Given the description of an element on the screen output the (x, y) to click on. 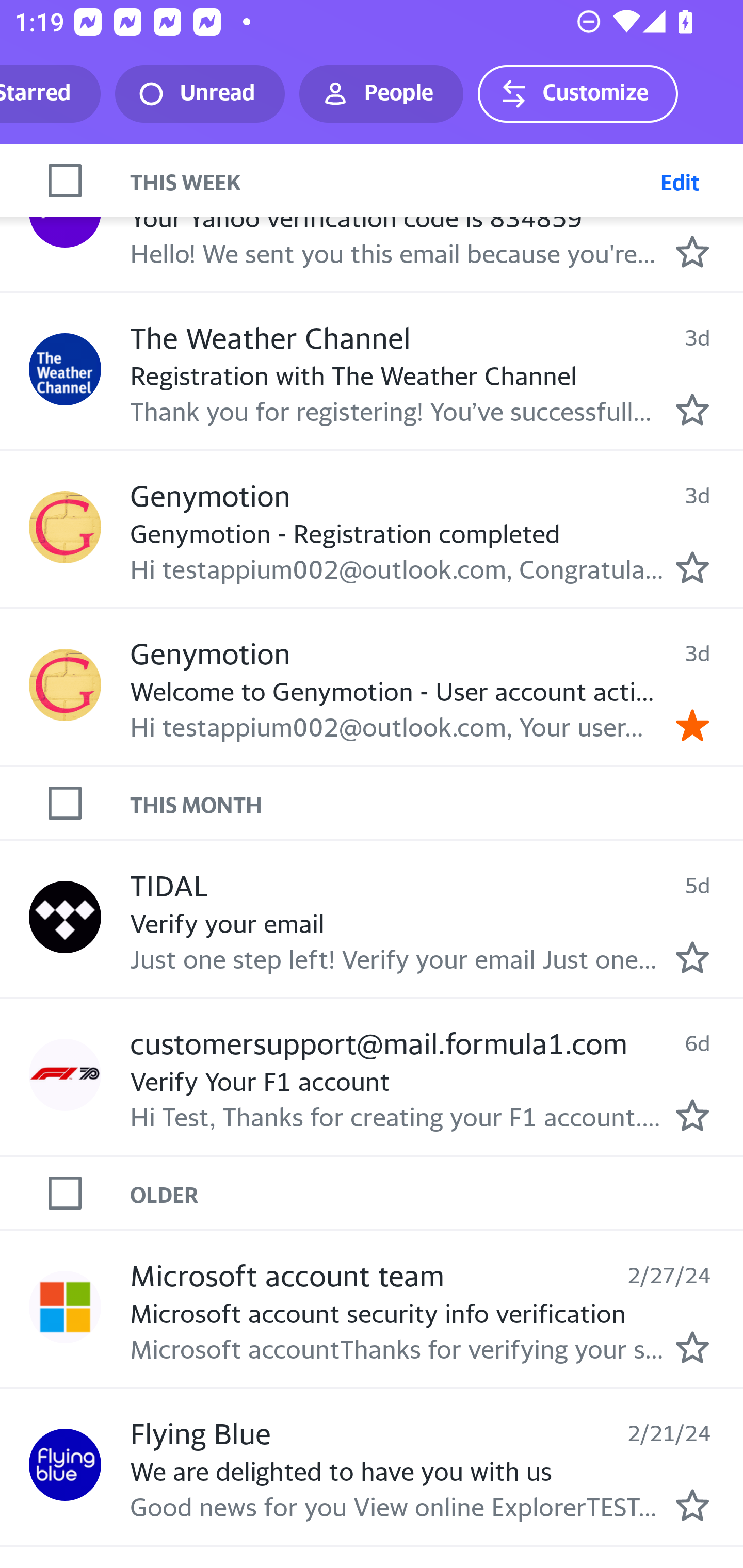
Unread (199, 93)
People (381, 93)
Customize (577, 93)
Mark as starred. (692, 251)
Profile
The Weather Channel (64, 369)
Mark as starred. (692, 410)
Profile
Genymotion (64, 526)
Mark as starred. (692, 566)
Profile
Genymotion (64, 685)
Remove star. (692, 725)
THIS MONTH (436, 803)
Profile
TIDAL (64, 917)
Mark as starred. (692, 957)
Profile
customersupport@mail.formula1.com (64, 1074)
Mark as starred. (692, 1115)
OLDER (436, 1192)
Profile
Microsoft account team (64, 1307)
Mark as starred. (692, 1347)
Profile
Flying Blue (64, 1464)
Mark as starred. (692, 1504)
